Given the description of an element on the screen output the (x, y) to click on. 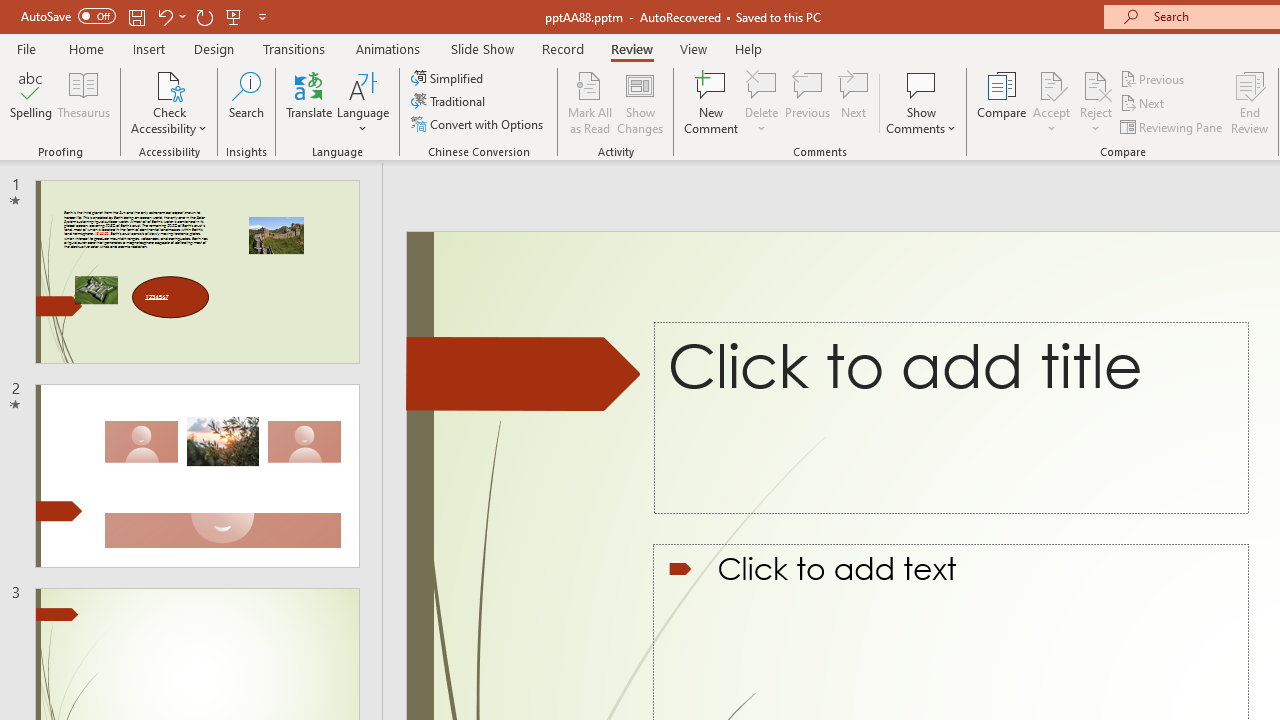
Delete (762, 102)
Simplified (449, 78)
